Given the description of an element on the screen output the (x, y) to click on. 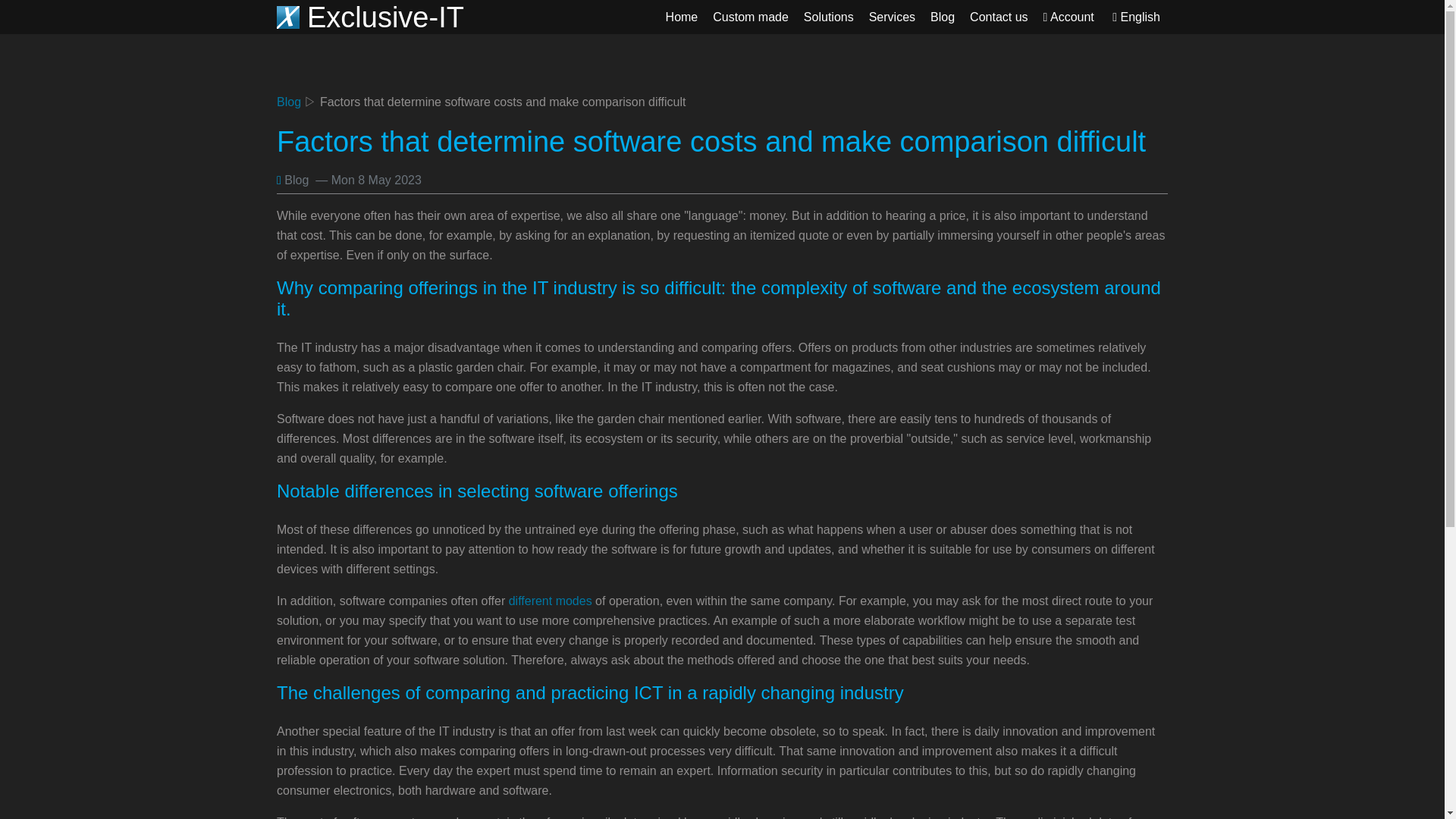
Custom made (750, 17)
Solutions (828, 17)
Home (682, 17)
English (1136, 17)
Blog (942, 17)
Blog (288, 101)
Exclusive-IT (370, 22)
Contact us (998, 17)
Services (892, 17)
different modes (550, 600)
